Given the description of an element on the screen output the (x, y) to click on. 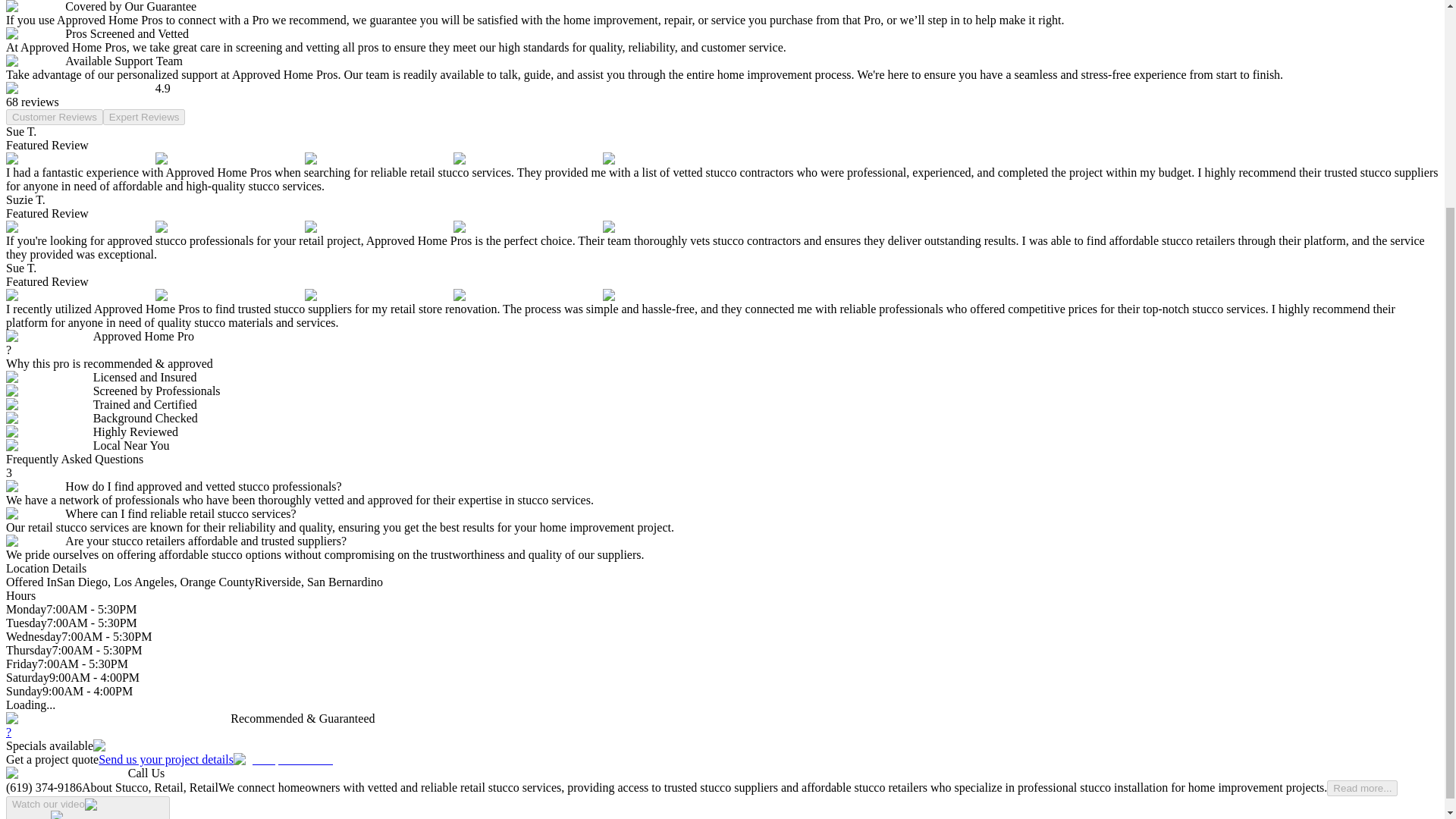
Expert Reviews (144, 116)
Customer Reviews (54, 116)
Read more... (1361, 788)
Send us your project details (216, 758)
